Given the description of an element on the screen output the (x, y) to click on. 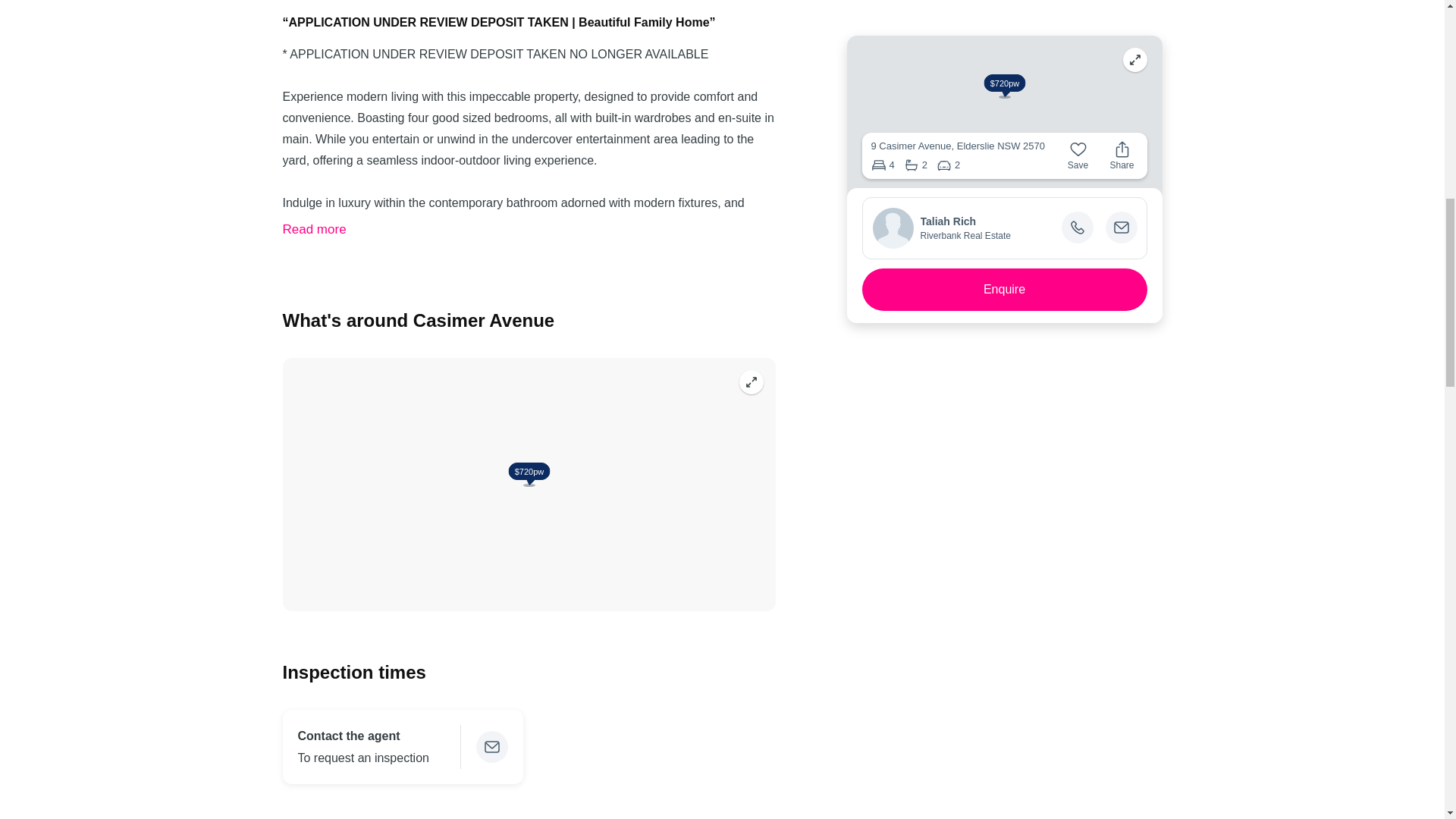
Read more (314, 229)
